Given the description of an element on the screen output the (x, y) to click on. 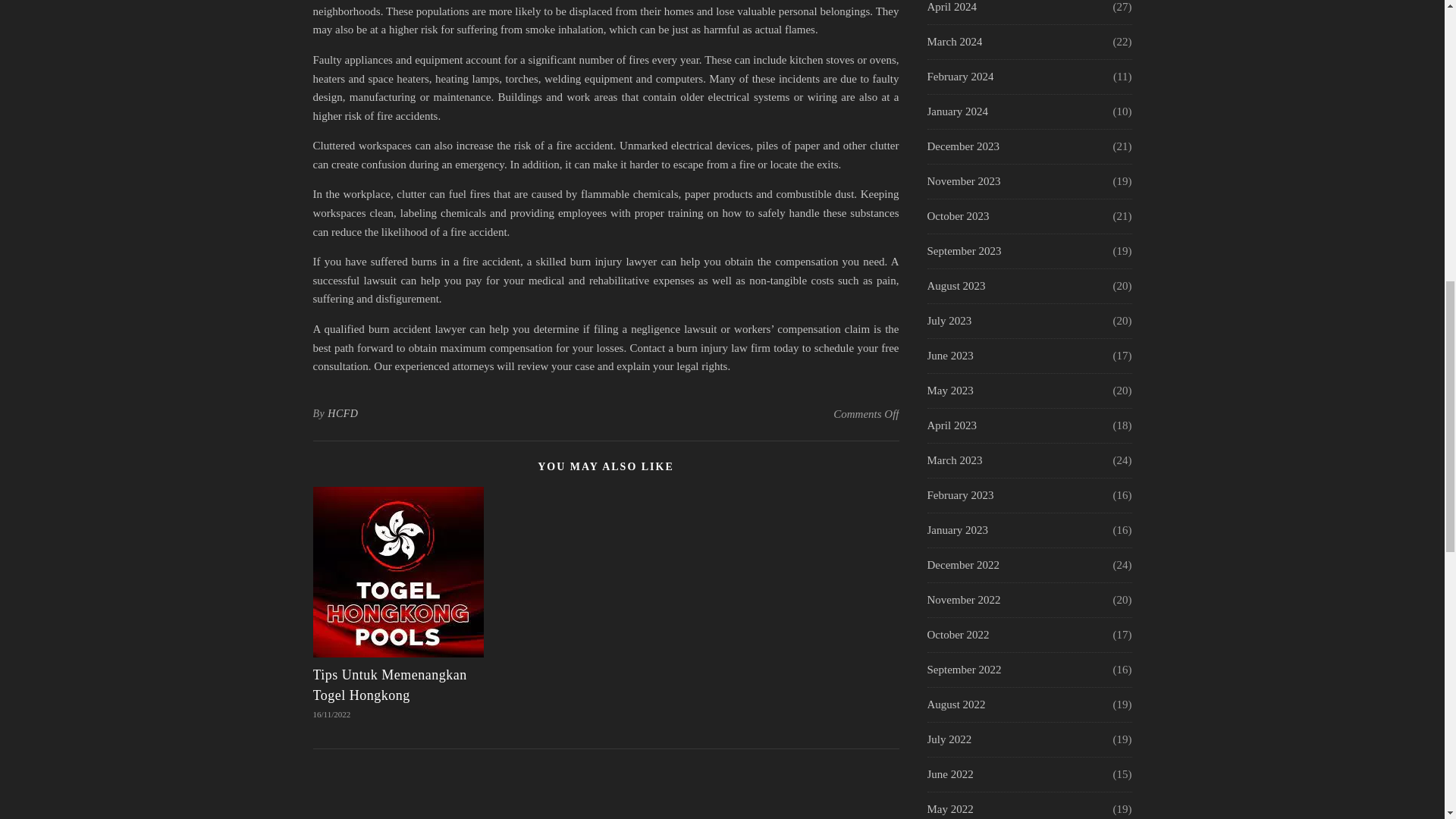
March 2024 (953, 41)
April 2024 (950, 12)
January 2023 (956, 530)
September 2023 (963, 251)
August 2023 (955, 286)
May 2023 (949, 390)
October 2023 (957, 216)
HCFD (342, 413)
March 2023 (953, 460)
November 2023 (963, 181)
